Given the description of an element on the screen output the (x, y) to click on. 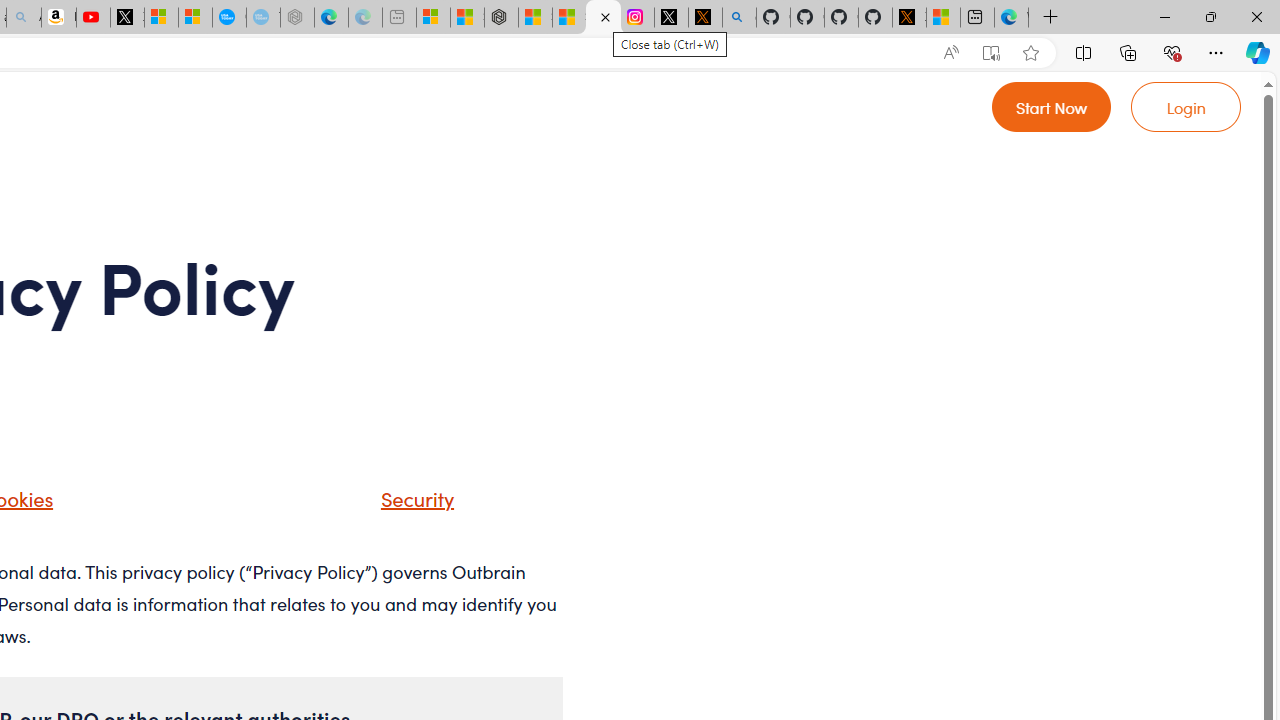
Security (411, 497)
Go to login (1186, 106)
Microsoft account | Microsoft Account Privacy Settings (433, 17)
The most popular Google 'how to' searches - Sleeping (263, 17)
Day 1: Arriving in Yemen (surreal to be here) - YouTube (93, 17)
github - Search (739, 17)
